Given the description of an element on the screen output the (x, y) to click on. 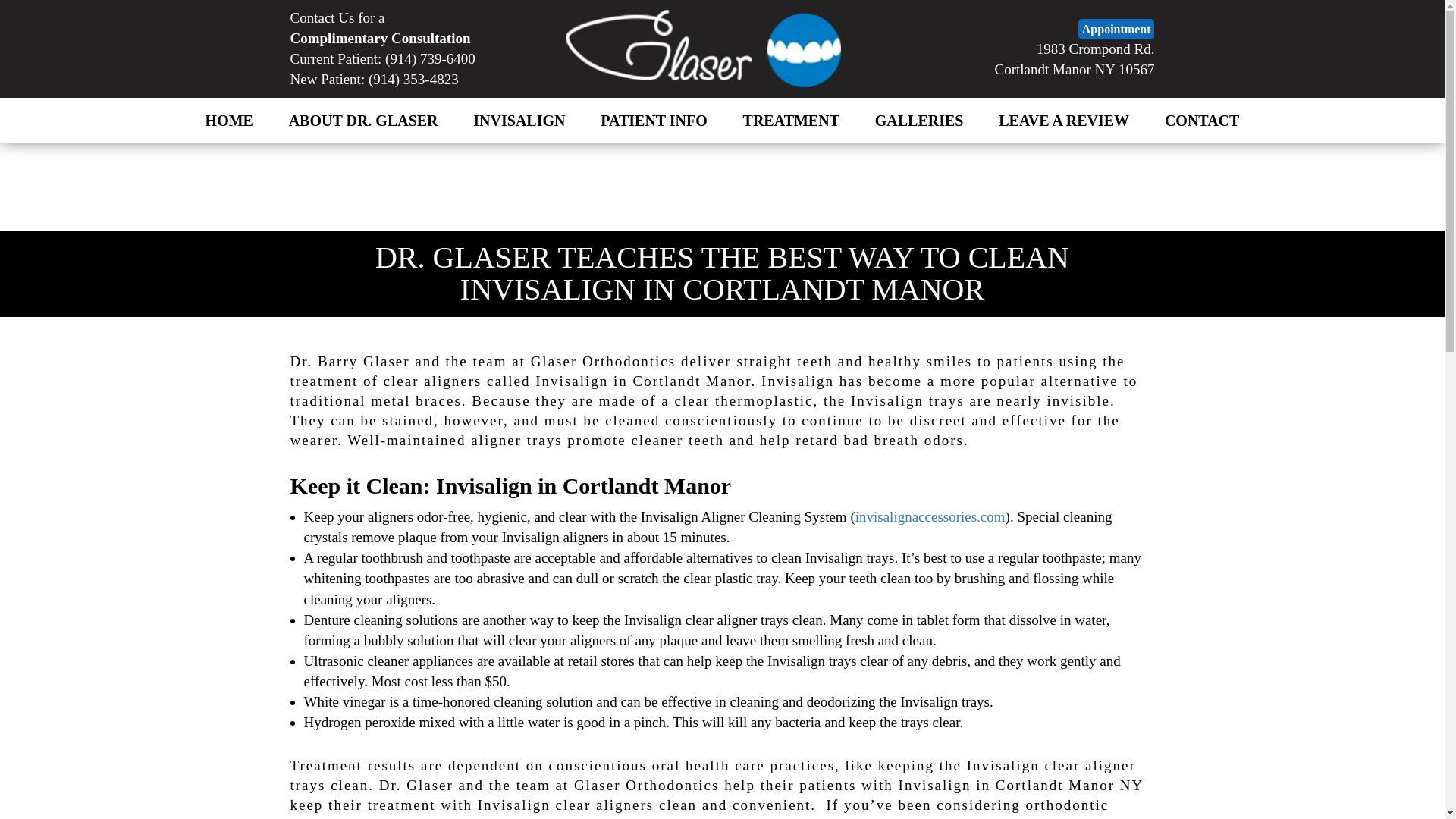
Appointment (1116, 28)
PATIENT INFO (653, 121)
INVISALIGN (1074, 58)
ABOUT DR. GLASER (518, 121)
HOME (362, 121)
